Given the description of an element on the screen output the (x, y) to click on. 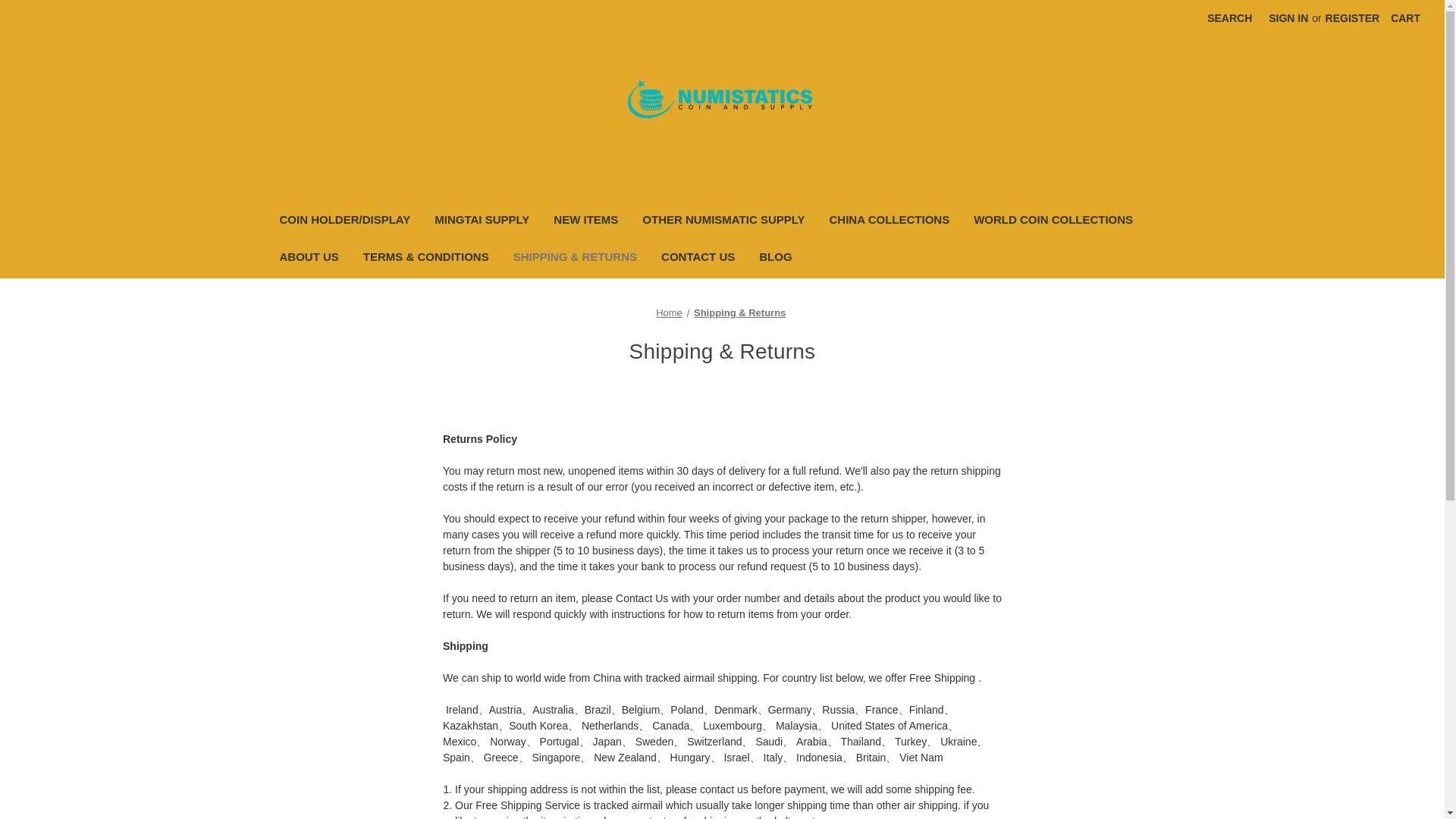
ABOUT US (308, 258)
MINGTAI SUPPLY (481, 221)
CONTACT US (697, 258)
CART (1404, 18)
NEW ITEMS (585, 221)
SIGN IN (1288, 18)
Home (669, 312)
REGISTER (1353, 18)
WORLD COIN COLLECTIONS (1052, 221)
CHINA COLLECTIONS (889, 221)
